Given the description of an element on the screen output the (x, y) to click on. 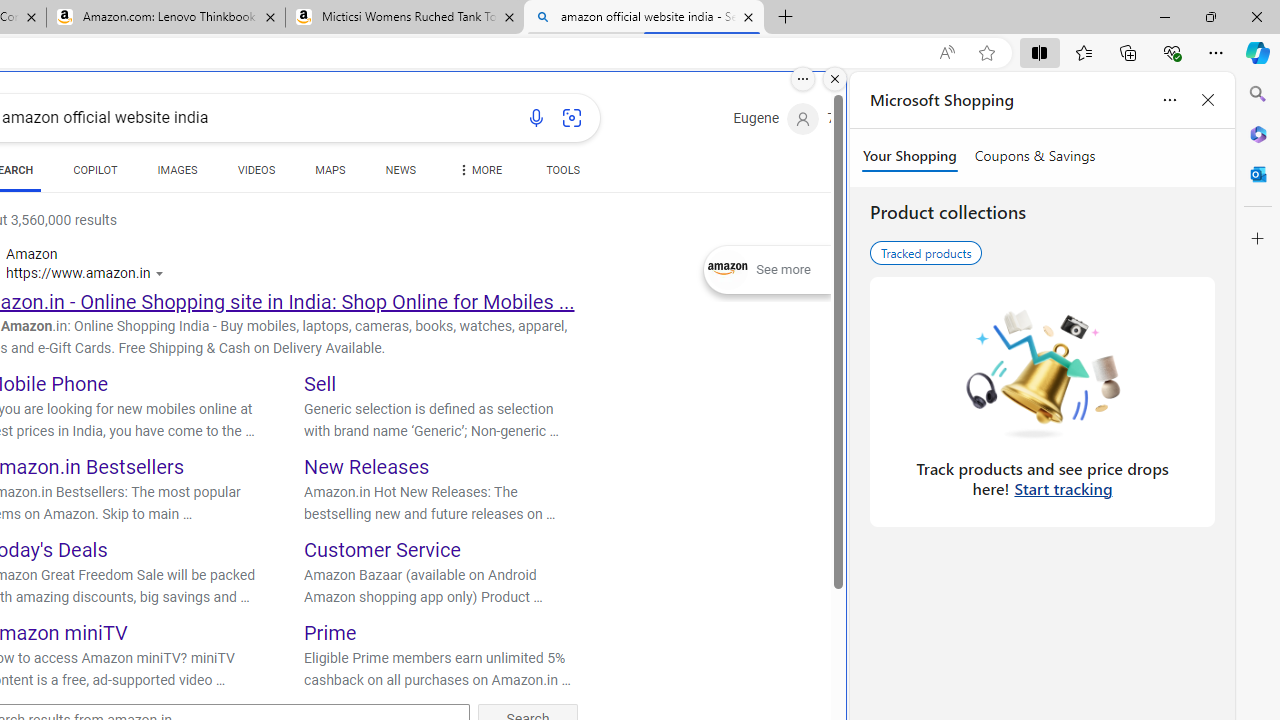
amazon official website india - Search (643, 17)
Close split screen. (835, 79)
TOOLS (562, 173)
Expand (727, 269)
